Given the description of an element on the screen output the (x, y) to click on. 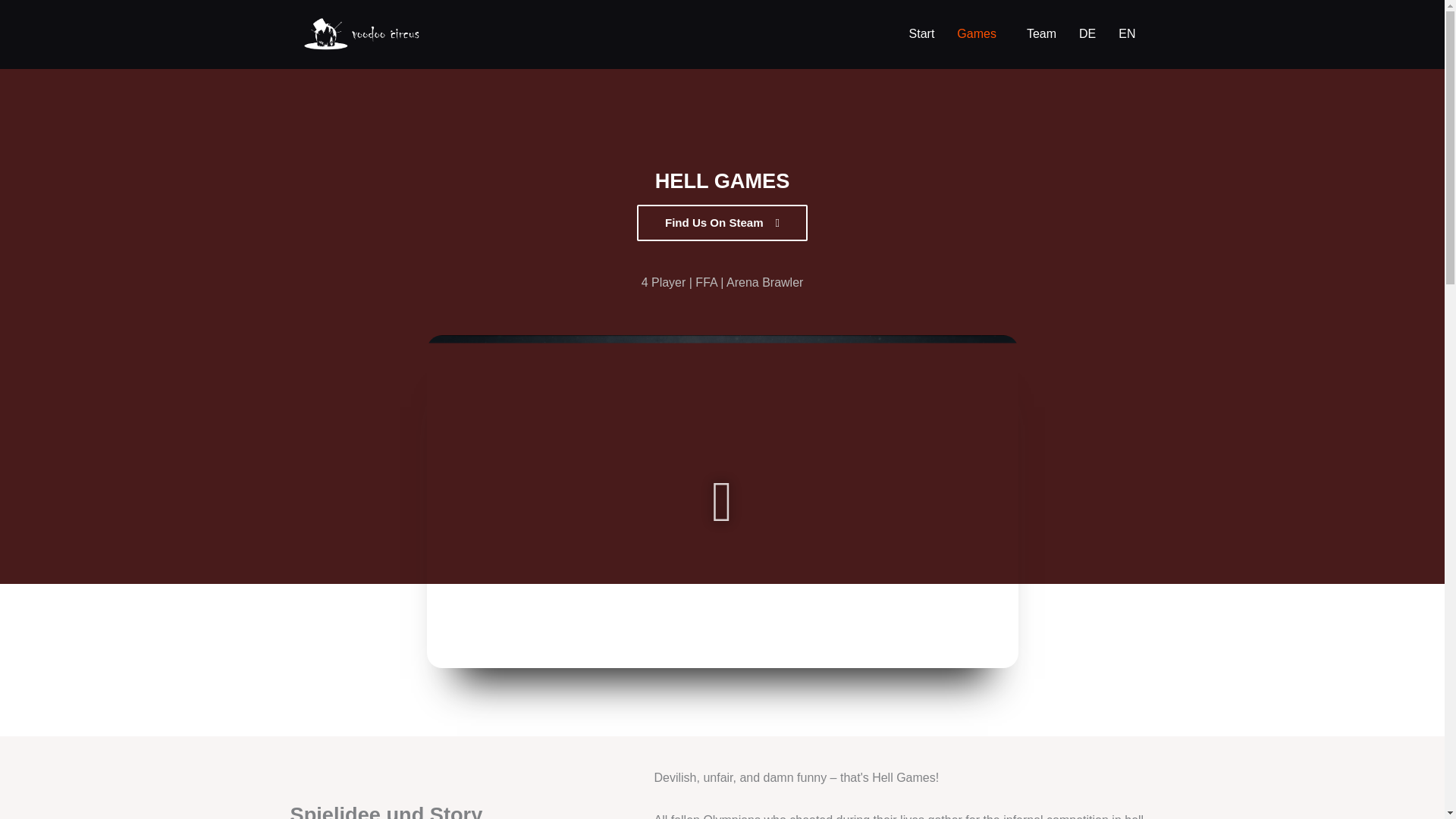
Start (922, 33)
Team (1040, 33)
EN (1126, 33)
Find Us On Steam (722, 222)
DE (1086, 33)
Games (979, 33)
